Given the description of an element on the screen output the (x, y) to click on. 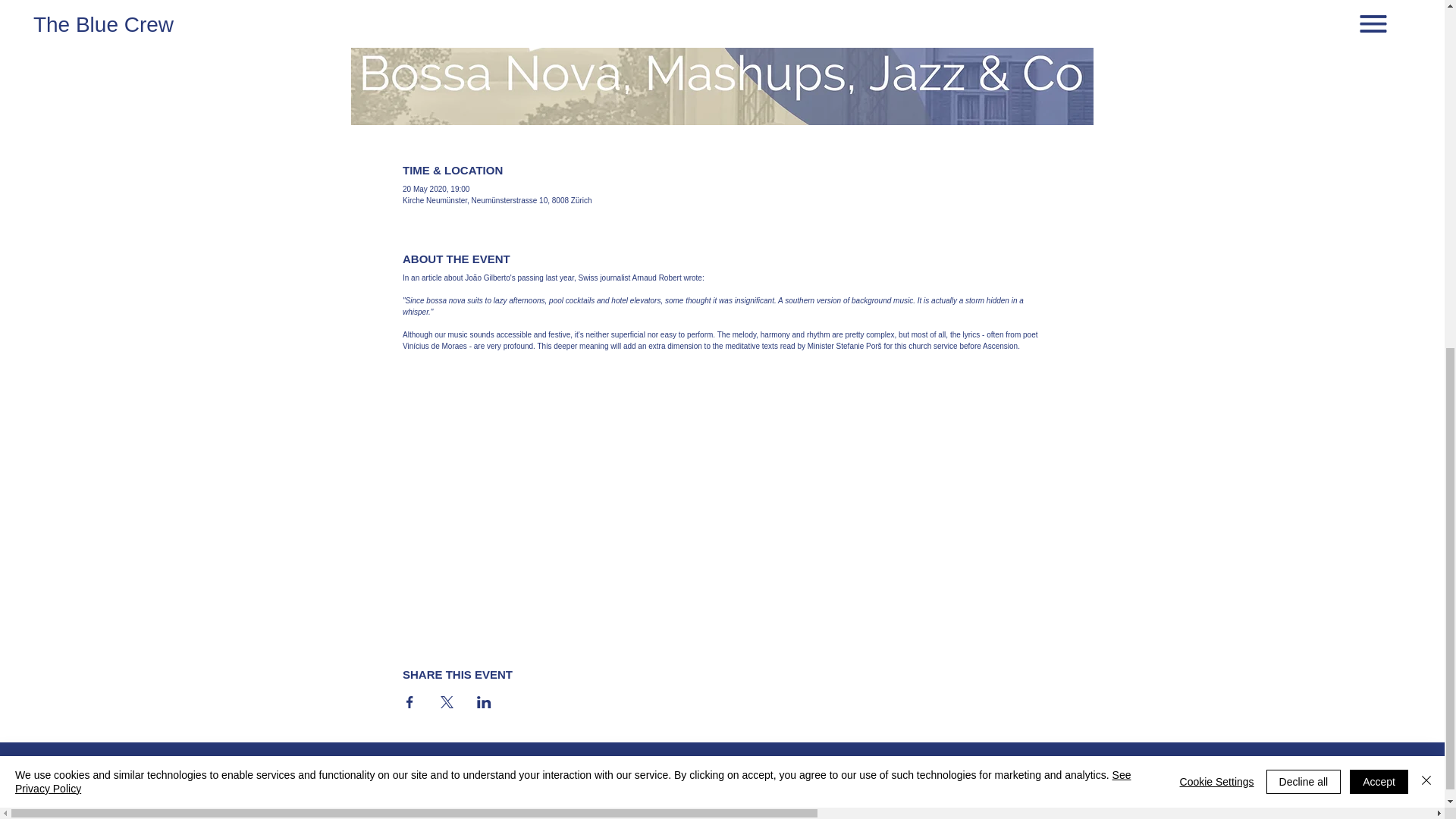
See Privacy Policy (572, 164)
Privacy Policy (652, 795)
Decline all (1303, 164)
Accept (1378, 164)
